Given the description of an element on the screen output the (x, y) to click on. 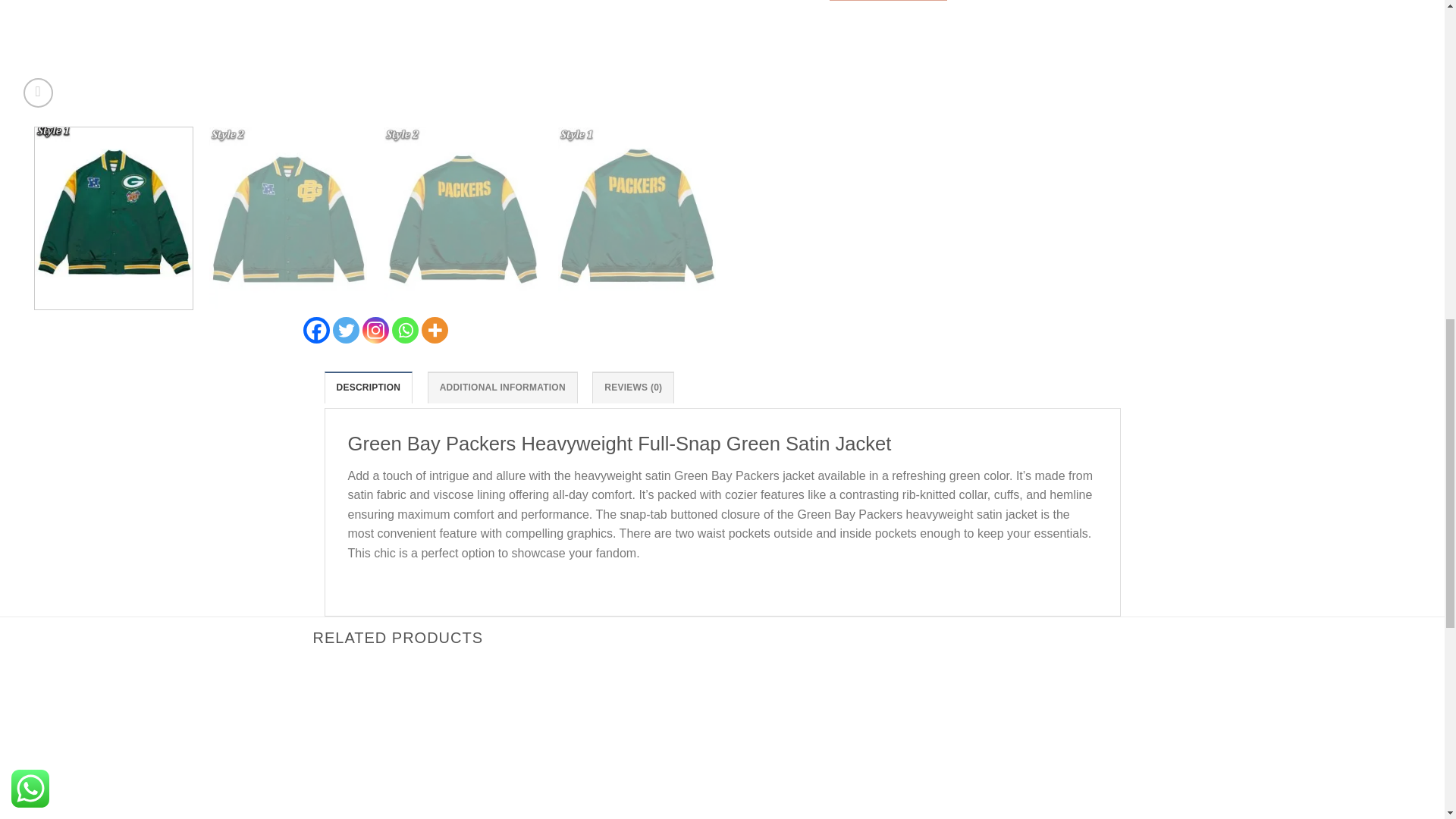
Zoom (37, 92)
Instagram (375, 329)
heavyweight-satin-green-bay-packers-jacket (362, 57)
Twitter (344, 329)
Facebook (316, 329)
